Given the description of an element on the screen output the (x, y) to click on. 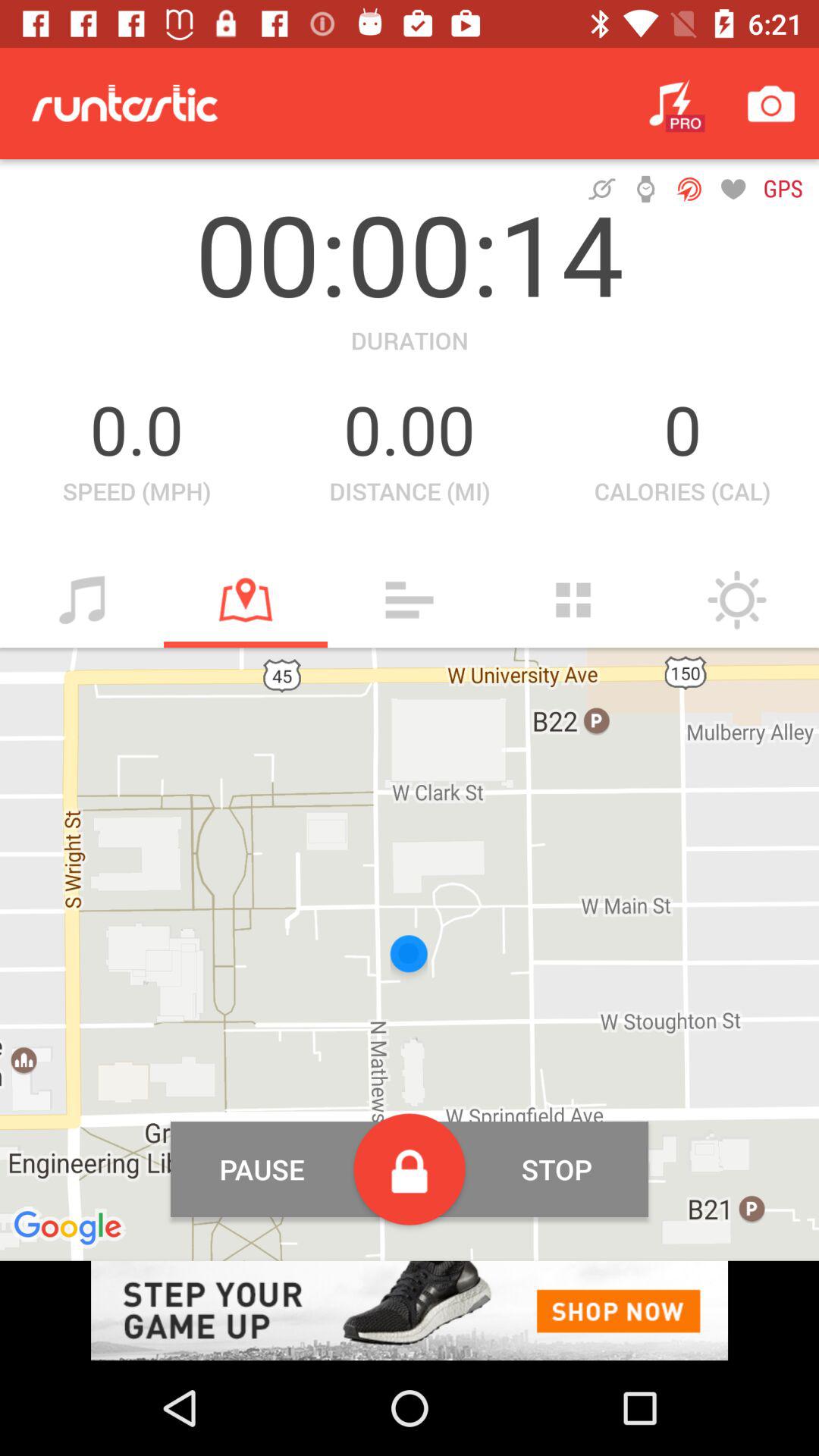
go to music (81, 599)
